Given the description of an element on the screen output the (x, y) to click on. 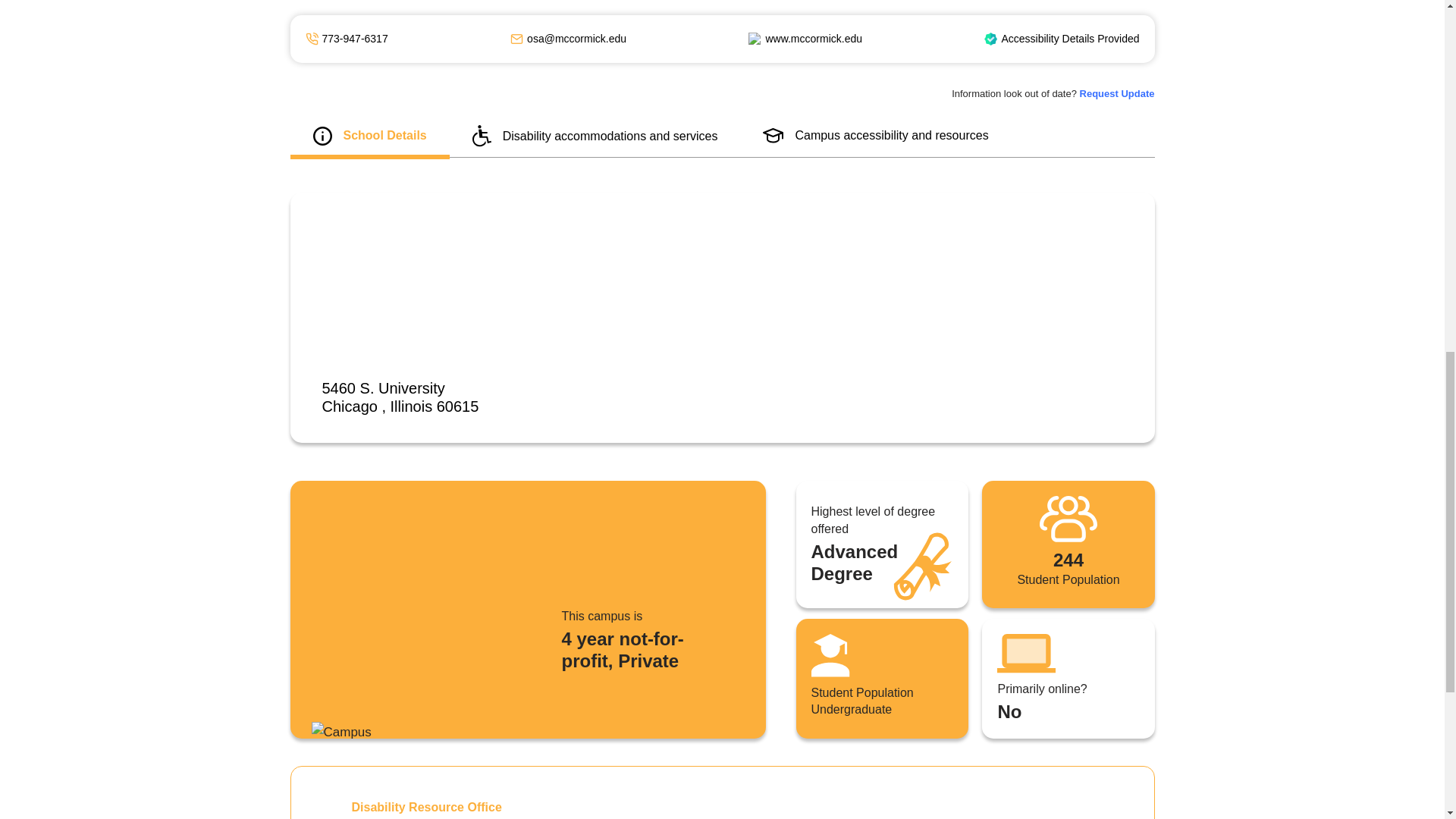
www.mccormick.edu (813, 39)
Request Update (1117, 93)
773-947-6317 (354, 39)
